Given the description of an element on the screen output the (x, y) to click on. 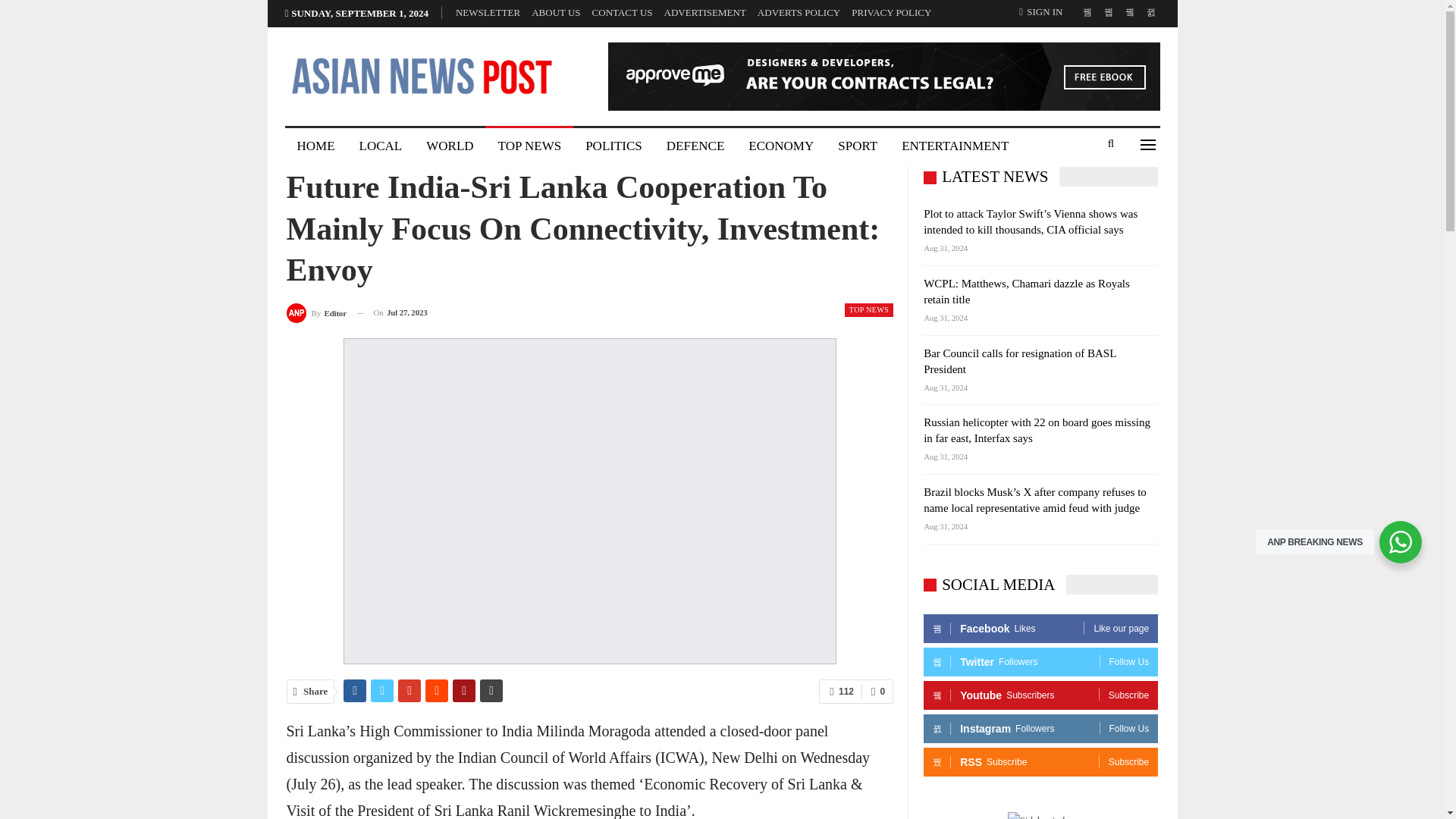
POLITICS (613, 145)
PRIVACY POLICY (891, 12)
TOP NEWS (529, 145)
Browse Author Articles (316, 312)
CONTACT US (622, 12)
ADVERTISEMENT (704, 12)
WORLD (448, 145)
LOCAL (380, 145)
ADVERTS POLICY (798, 12)
ECONOMY (780, 145)
